Given the description of an element on the screen output the (x, y) to click on. 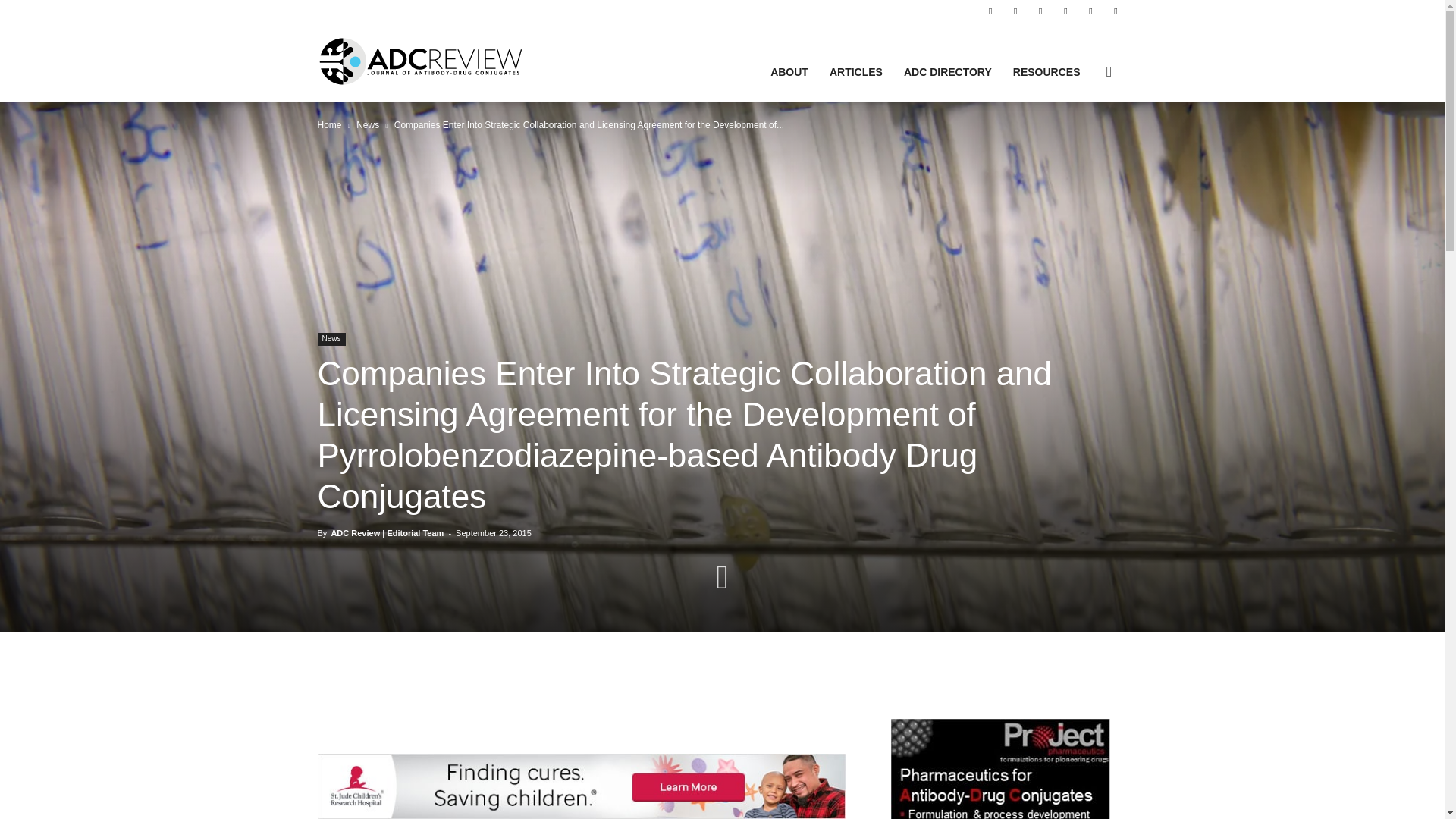
Journal of Antibody-Drug Conjugates (419, 60)
Vimeo (1090, 10)
Twitter (1065, 10)
Linkedin (1015, 10)
Facebook (989, 10)
Xing (1114, 10)
Soundcloud (1040, 10)
